Given the description of an element on the screen output the (x, y) to click on. 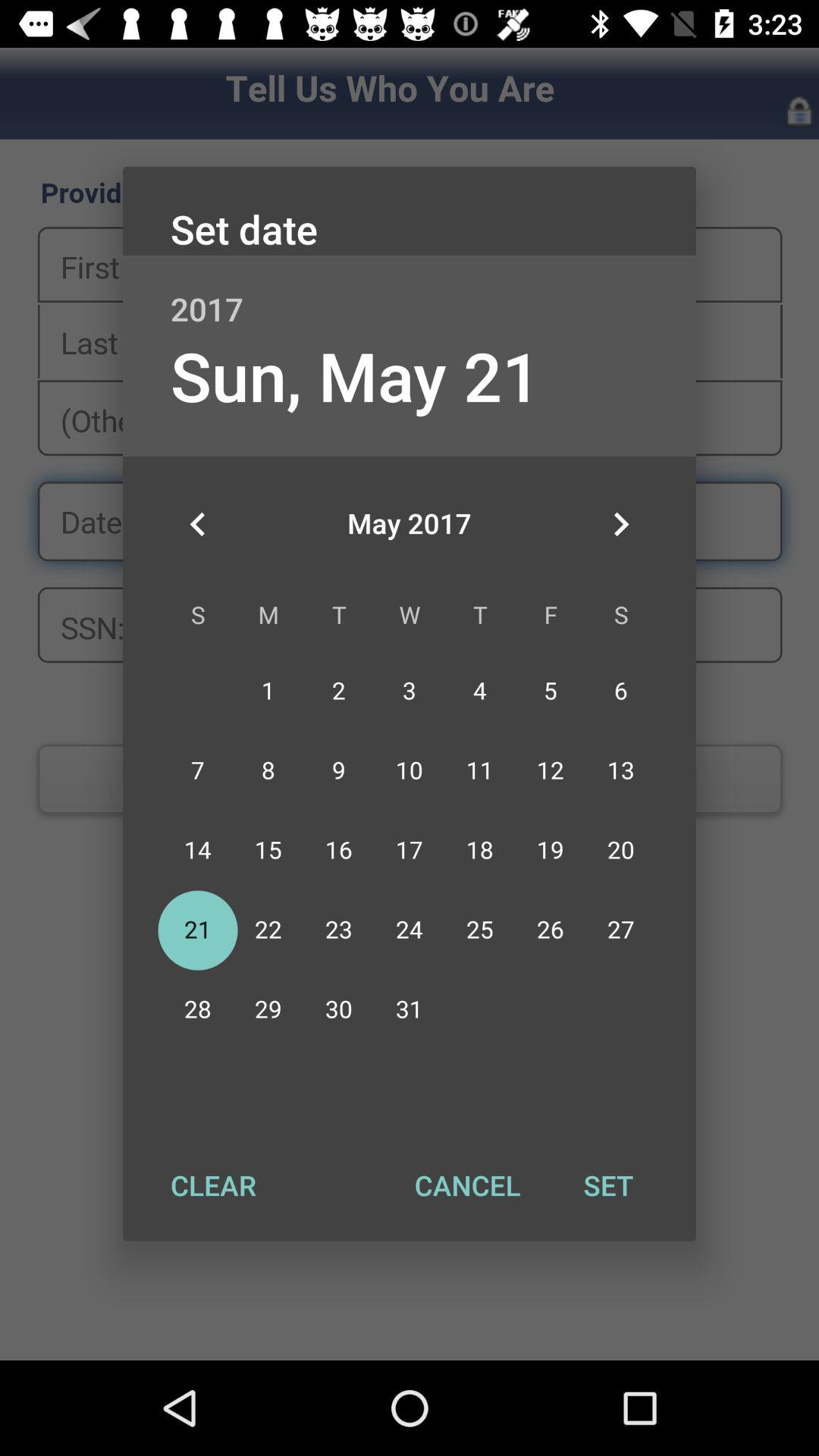
press the 2017 icon (409, 292)
